Given the description of an element on the screen output the (x, y) to click on. 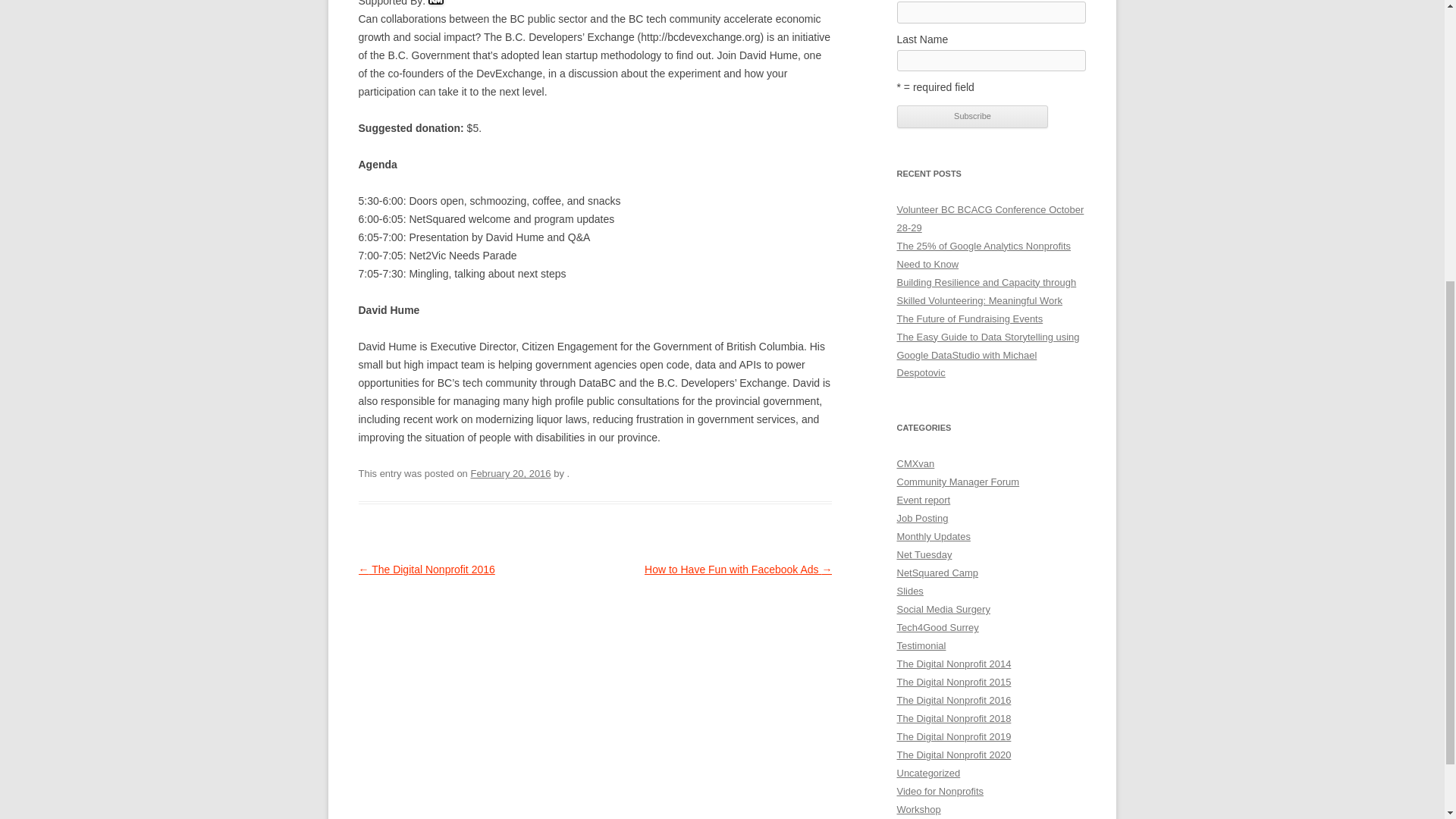
Monthly Updates (932, 536)
Subscribe (972, 116)
Event report (923, 500)
Net Tuesday (924, 554)
8:42 pm (510, 473)
Slides (909, 591)
CMXvan (915, 463)
The Digital Nonprofit 2014 (953, 663)
Volunteer BC BCACG Conference October 28-29 (989, 218)
